Given the description of an element on the screen output the (x, y) to click on. 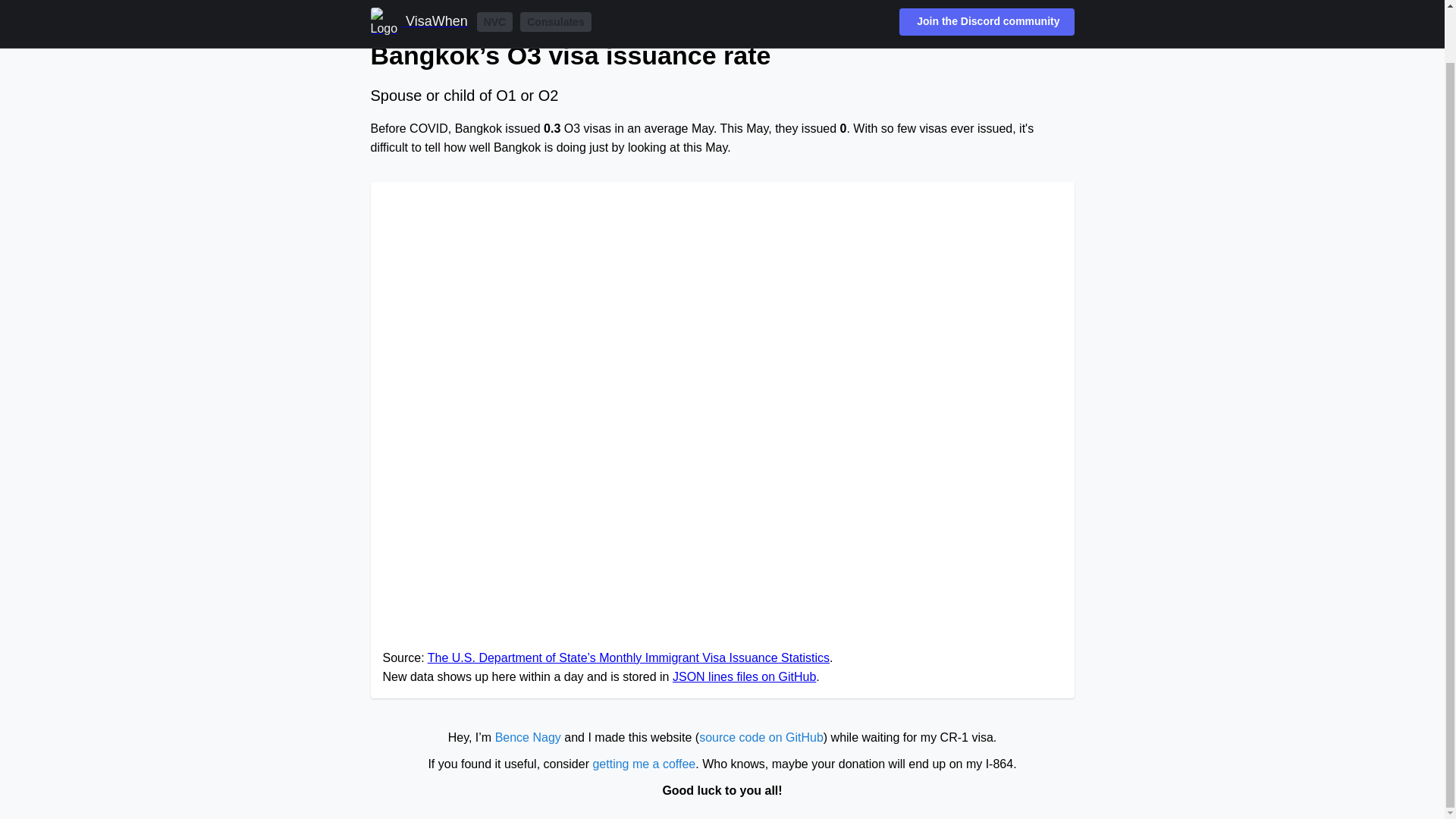
Change consulate (422, 15)
JSON lines files on GitHub (743, 676)
Bence Nagy (527, 737)
source code on GitHub (761, 737)
getting me a coffee (643, 763)
Change visa class (535, 15)
